Given the description of an element on the screen output the (x, y) to click on. 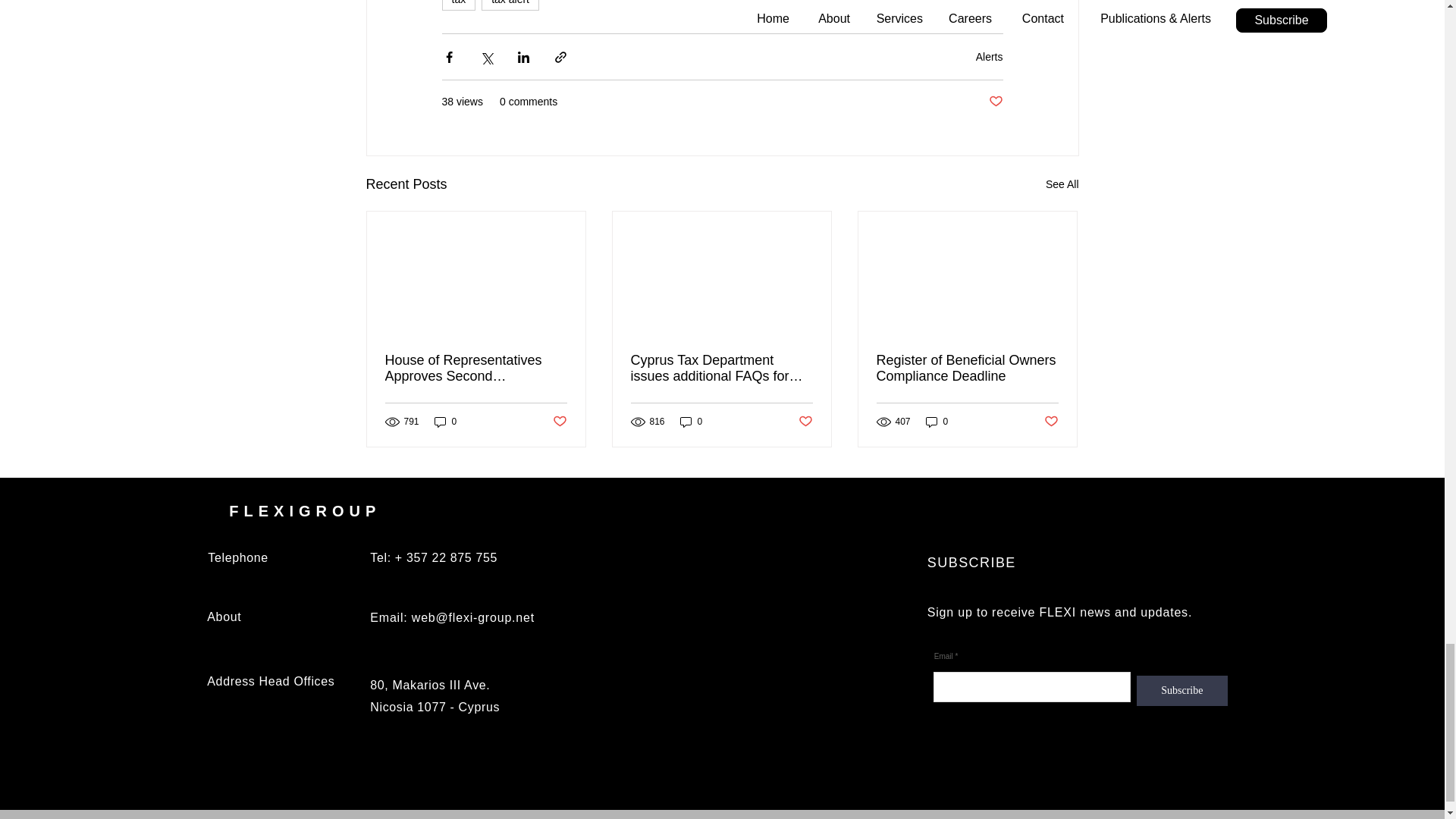
See All (1061, 184)
Post not marked as liked (804, 421)
Post not marked as liked (995, 101)
Post not marked as liked (1050, 421)
Alerts (989, 56)
FLEXIGROUP (304, 510)
tax alert (509, 5)
0 (937, 421)
tax (458, 5)
0 (691, 421)
Post not marked as liked (558, 421)
0 (445, 421)
Register of Beneficial Owners Compliance Deadline (967, 368)
